Given the description of an element on the screen output the (x, y) to click on. 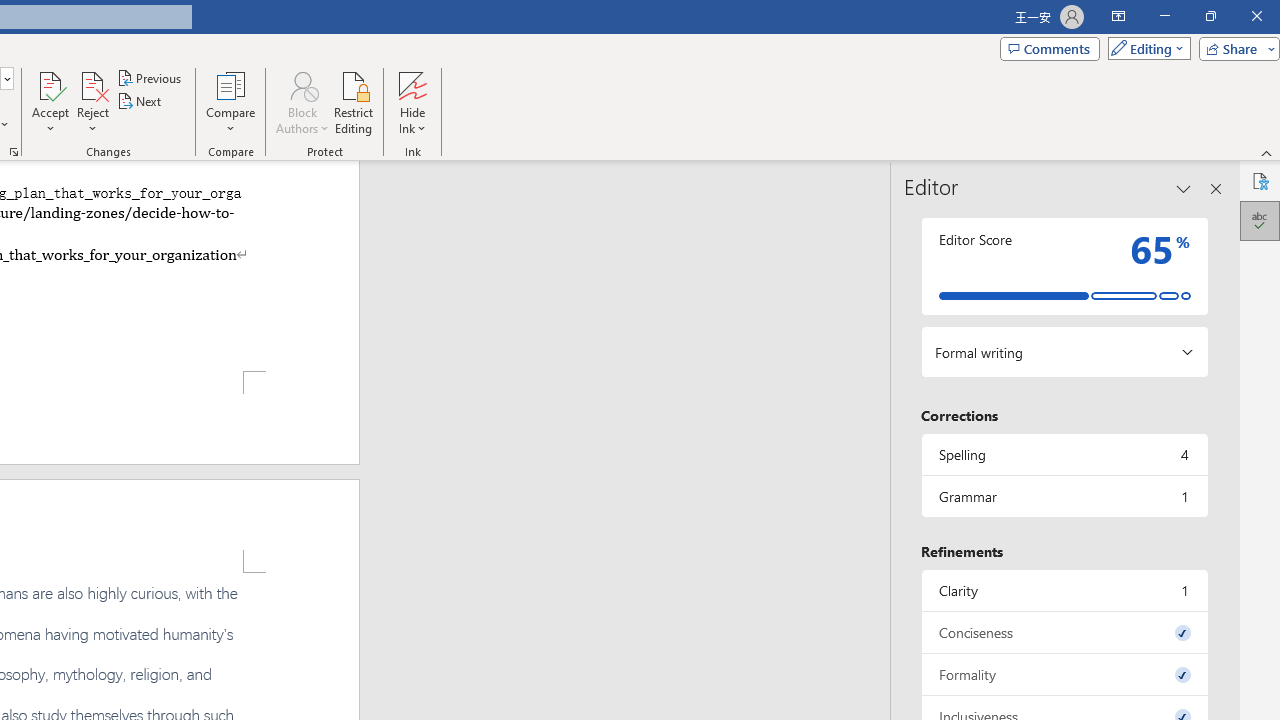
Close pane (1215, 188)
Minimize (1164, 16)
Share (1235, 48)
Close (1256, 16)
Accept and Move to Next (50, 84)
Hide Ink (412, 84)
